Given the description of an element on the screen output the (x, y) to click on. 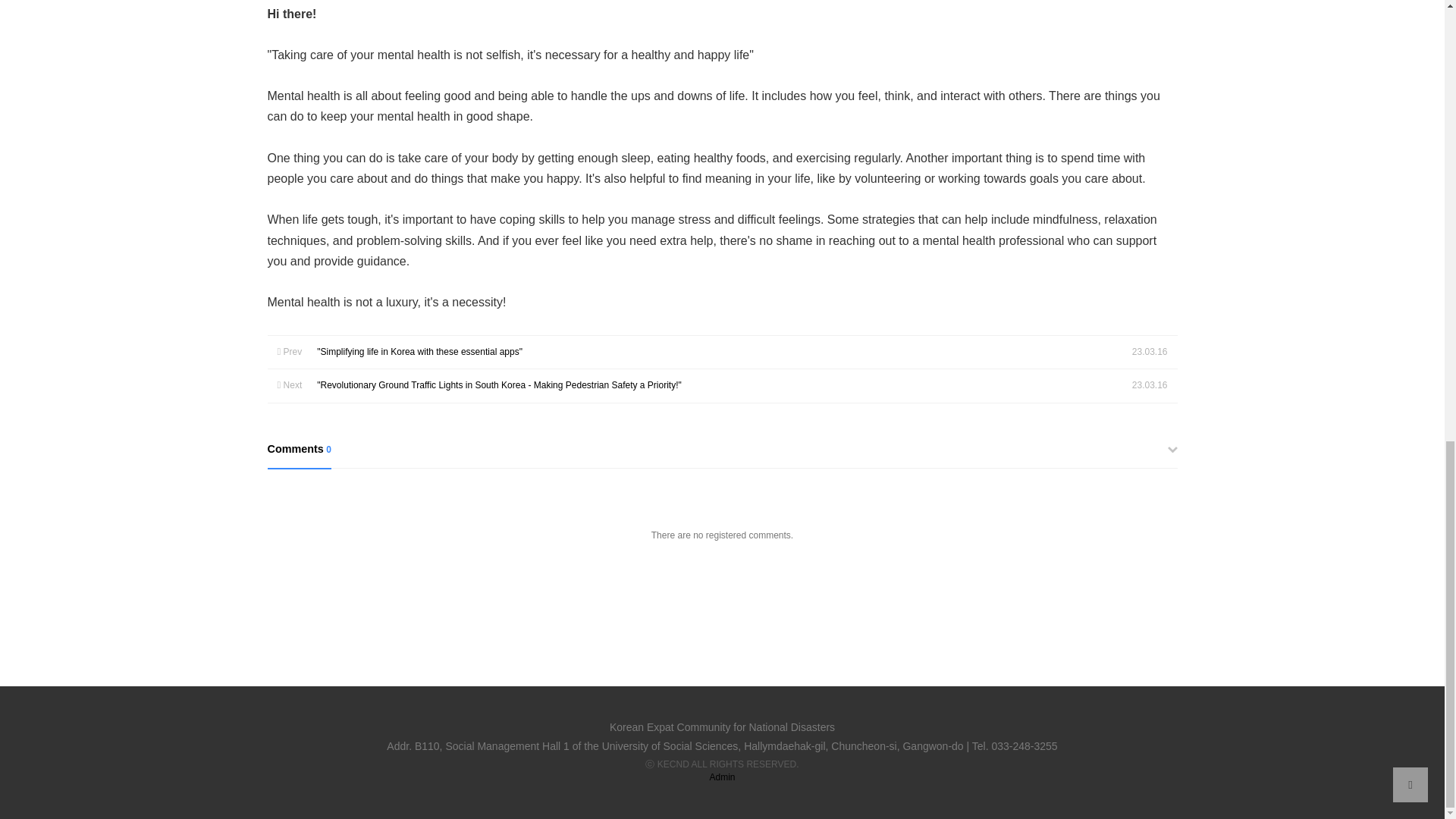
Comments 0 (721, 455)
"Simplifying life in Korea with these essential apps" (419, 351)
Admin (722, 777)
